Given the description of an element on the screen output the (x, y) to click on. 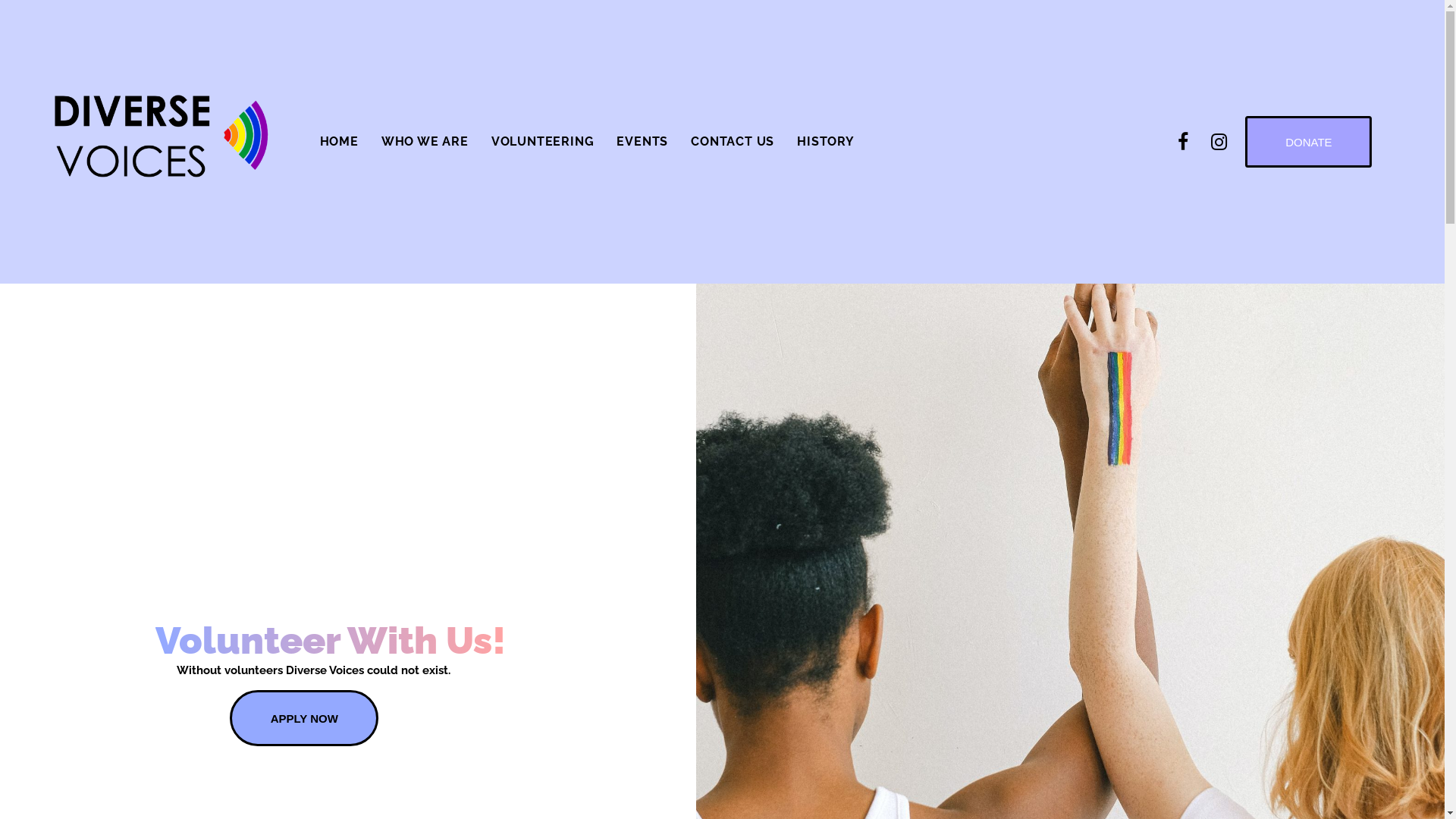
CONTACT US Element type: text (732, 141)
DONATE Element type: text (1308, 141)
HOME Element type: text (339, 141)
VOLUNTEERING Element type: text (542, 141)
EVENTS Element type: text (642, 141)
HISTORY Element type: text (825, 141)
WHO WE ARE Element type: text (425, 141)
APPLY NOW Element type: text (303, 718)
